Given the description of an element on the screen output the (x, y) to click on. 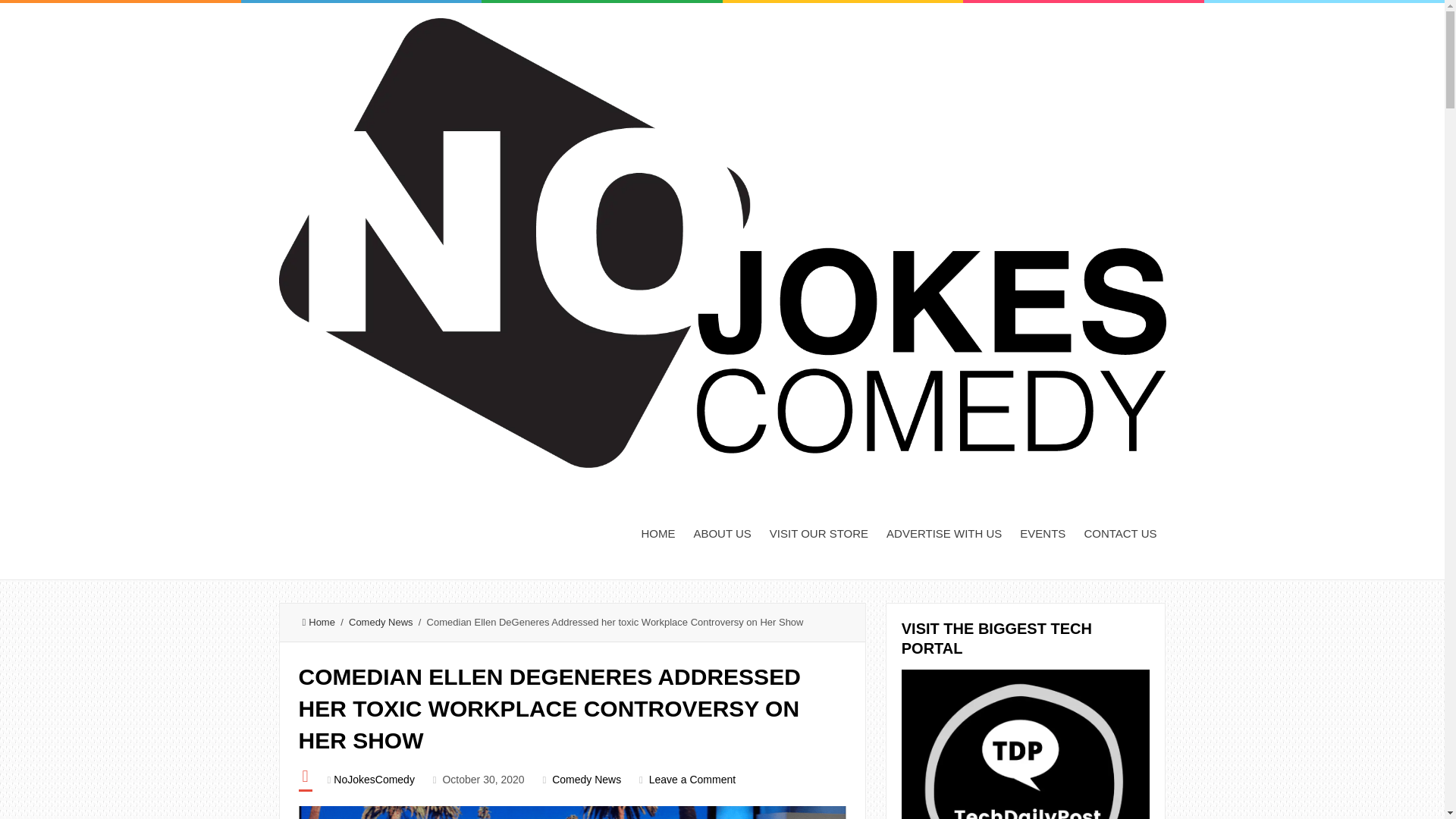
VISIT OUR STORE (818, 533)
Comedy News (586, 779)
Posts by NoJokesComedy (373, 779)
Leave a Comment (692, 779)
October 30, 2020 (483, 779)
Comedy News (381, 622)
Home (317, 622)
NoJokesComedy (373, 779)
CONTACT US (1120, 533)
ADVERTISE WITH US (943, 533)
